Given the description of an element on the screen output the (x, y) to click on. 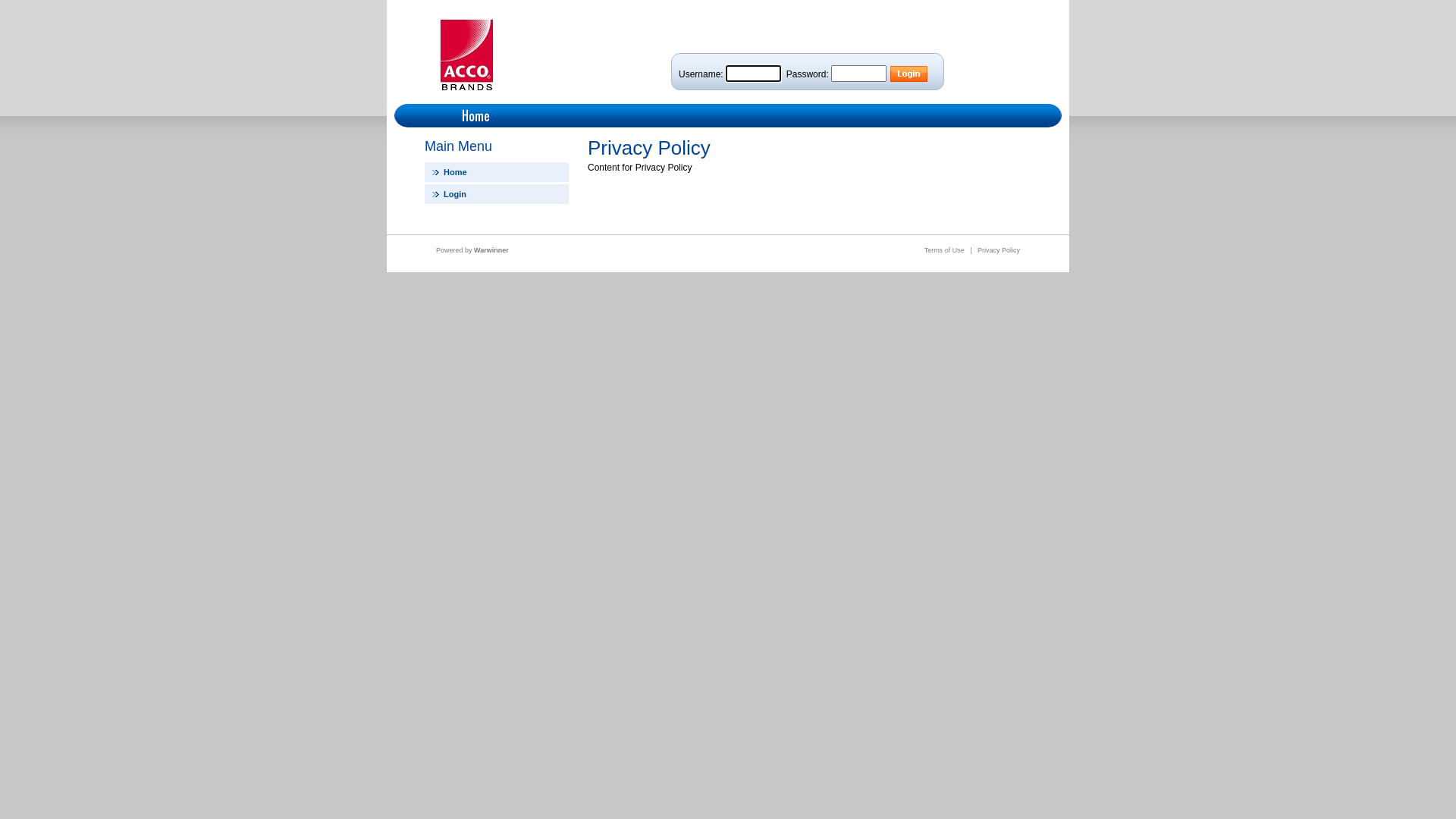
Terms of Use Element type: text (944, 250)
Privacy Policy Element type: text (998, 250)
Password Element type: hover (858, 73)
Username Element type: hover (753, 73)
Home Element type: text (496, 172)
Login Element type: text (496, 193)
